Given the description of an element on the screen output the (x, y) to click on. 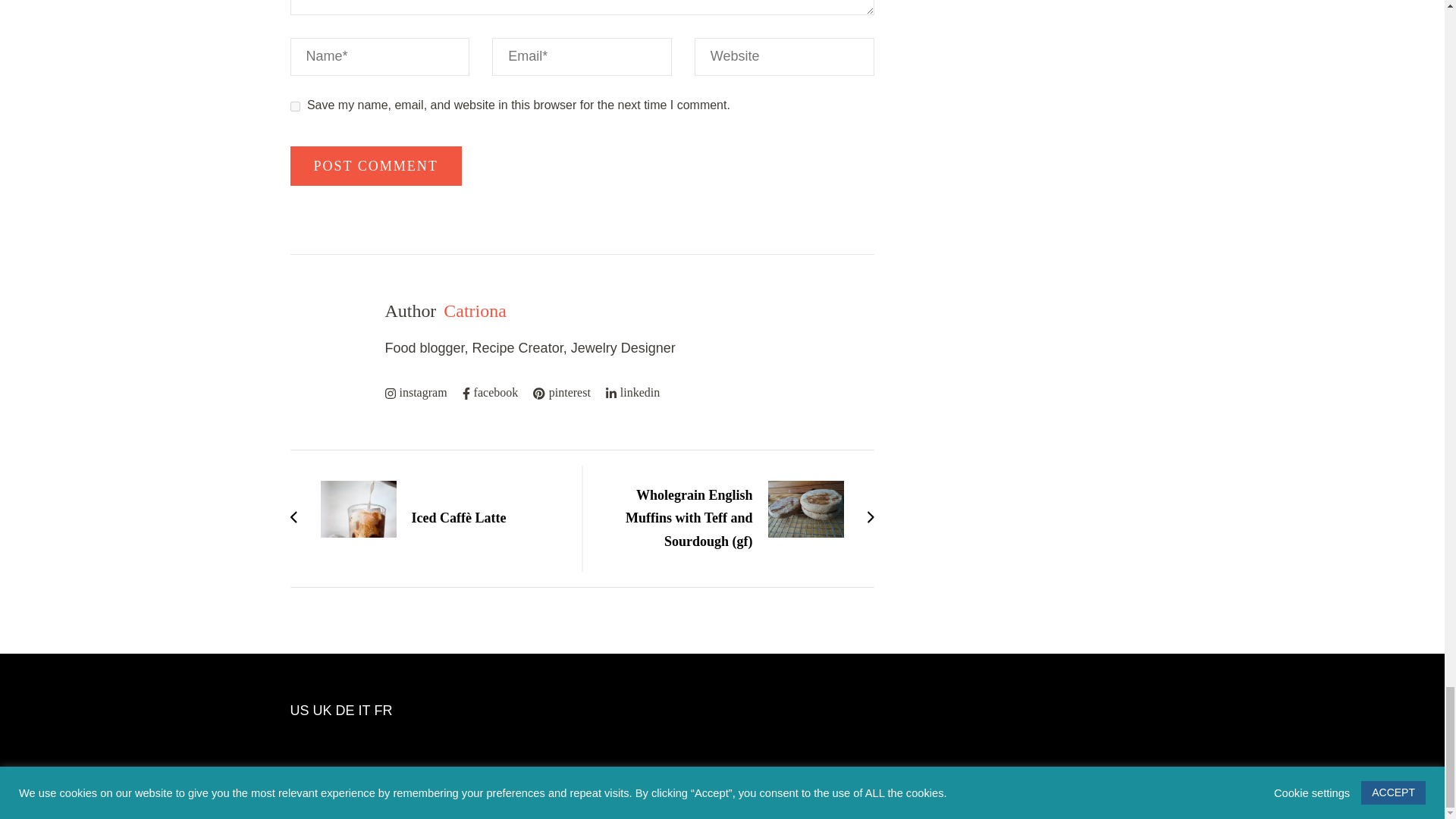
yes (294, 106)
Post Comment (375, 165)
